Given the description of an element on the screen output the (x, y) to click on. 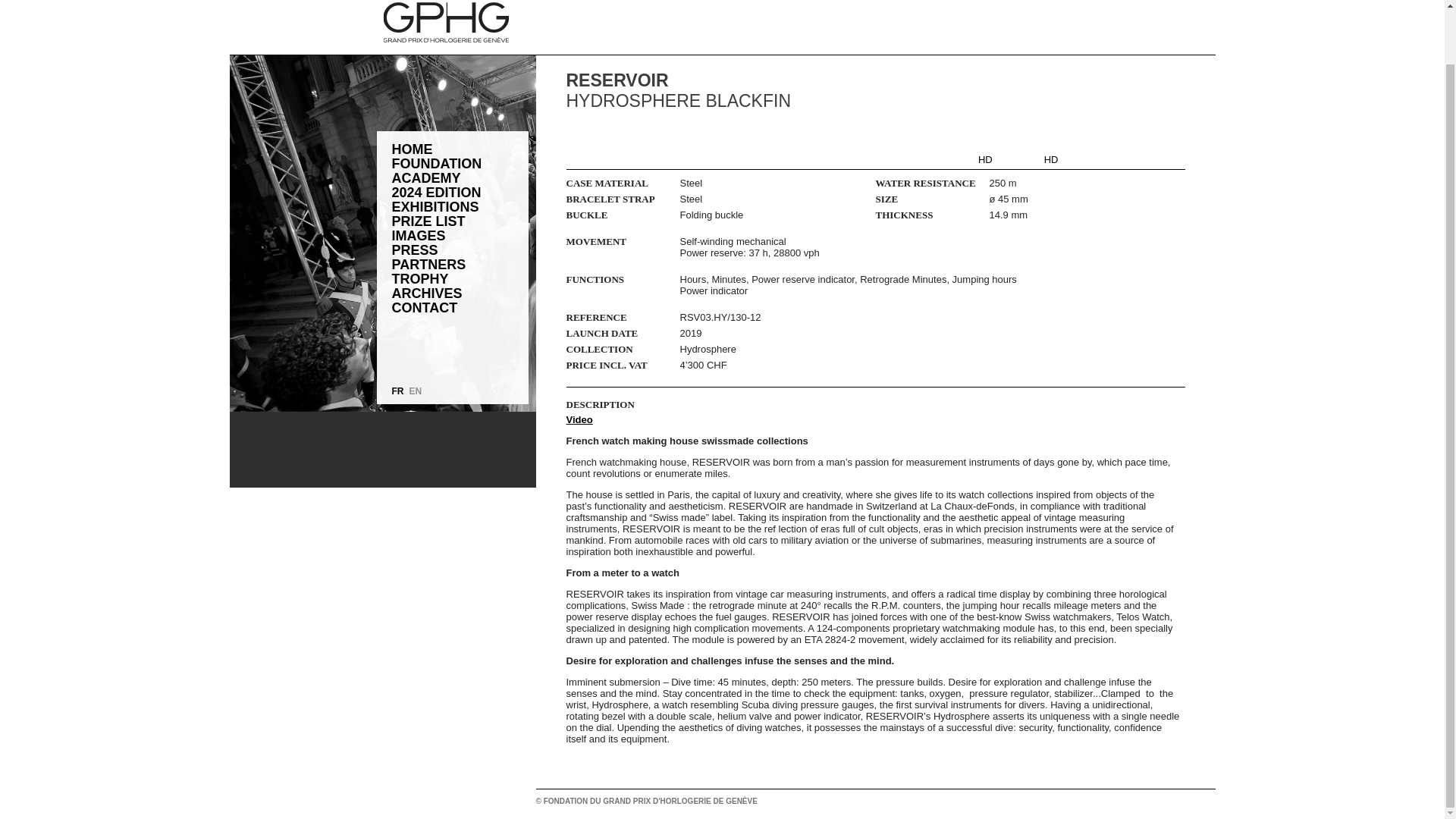
IMAGES (418, 236)
PRESS (414, 250)
PARTNERS (428, 264)
HD (985, 159)
PRIZE LIST (427, 221)
TROPHY (419, 278)
FR (397, 390)
HD (1050, 159)
FOUNDATION (436, 164)
Video (579, 419)
EXHIBITIONS (435, 206)
ARCHIVES (426, 293)
HOME (411, 149)
EN (415, 390)
CONTACT (424, 308)
